Given the description of an element on the screen output the (x, y) to click on. 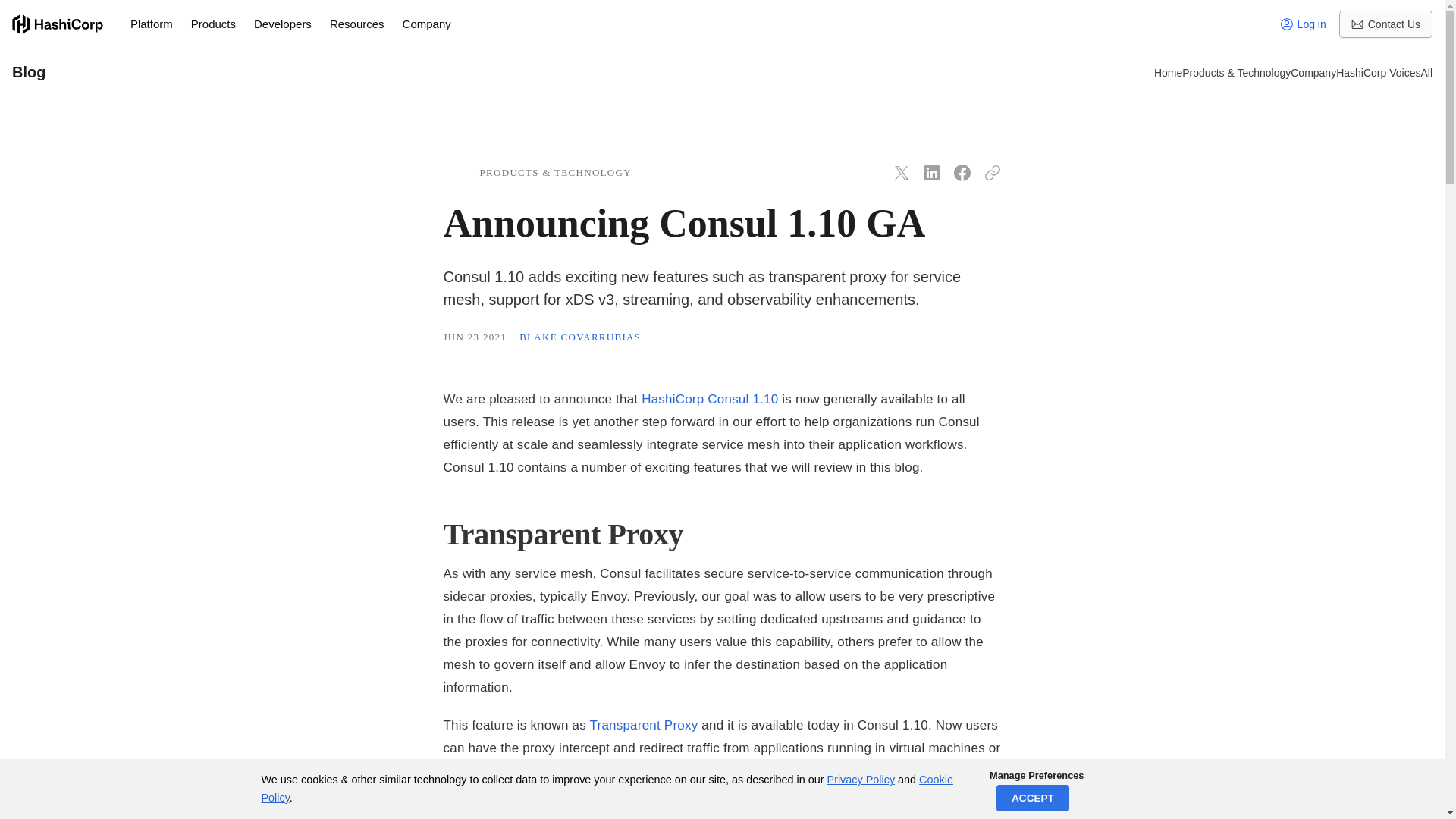
Developers (282, 24)
Platform (151, 24)
Resources (356, 24)
HashiCorp (57, 23)
Products (213, 24)
Blog (570, 72)
